Given the description of an element on the screen output the (x, y) to click on. 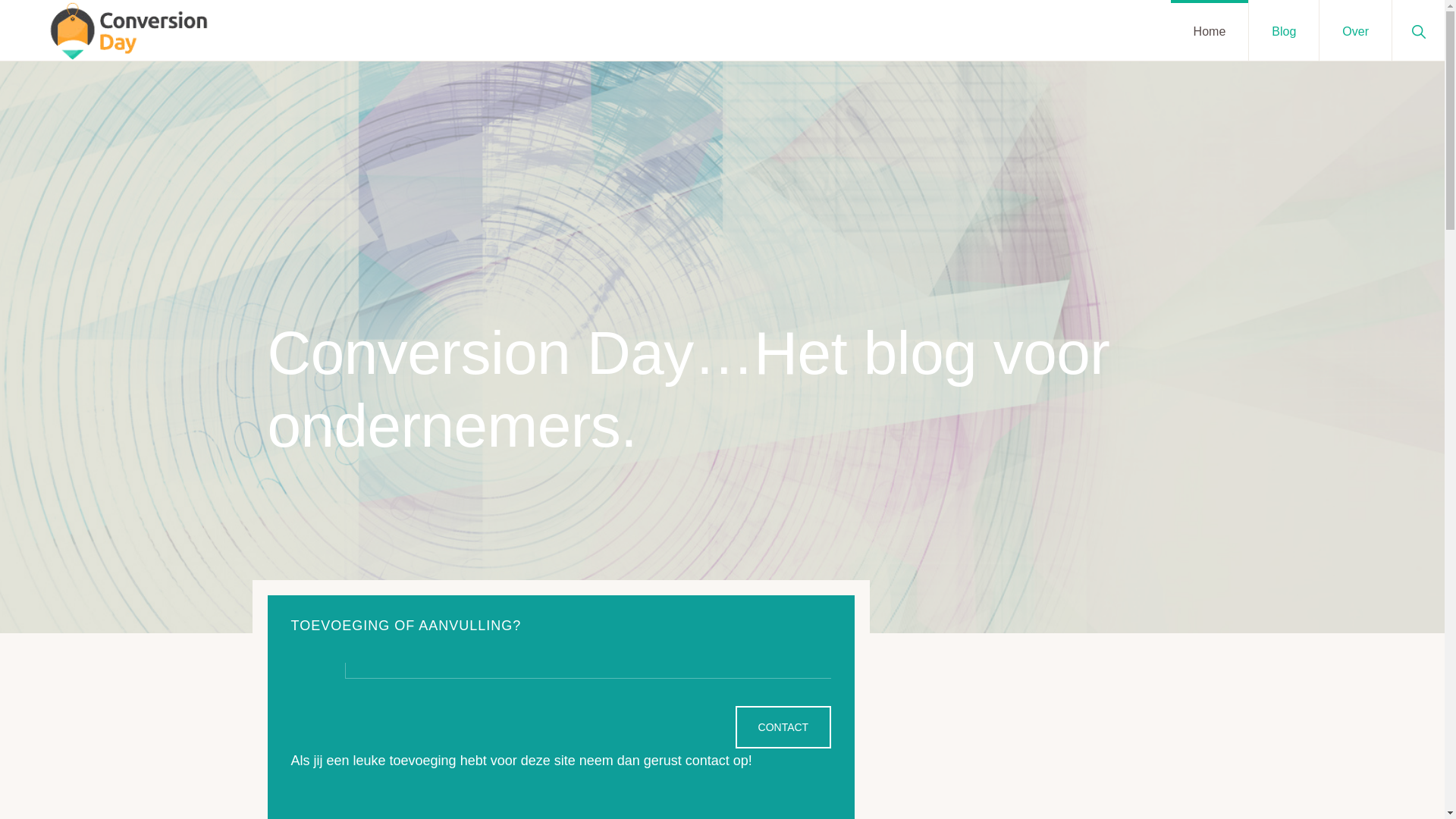
Home Element type: text (1209, 30)
Blog Element type: text (1283, 30)
Over Element type: text (1355, 30)
CONTACT Element type: text (783, 727)
Show Search Element type: text (1418, 30)
Skip to primary navigation Element type: text (0, 0)
